Given the description of an element on the screen output the (x, y) to click on. 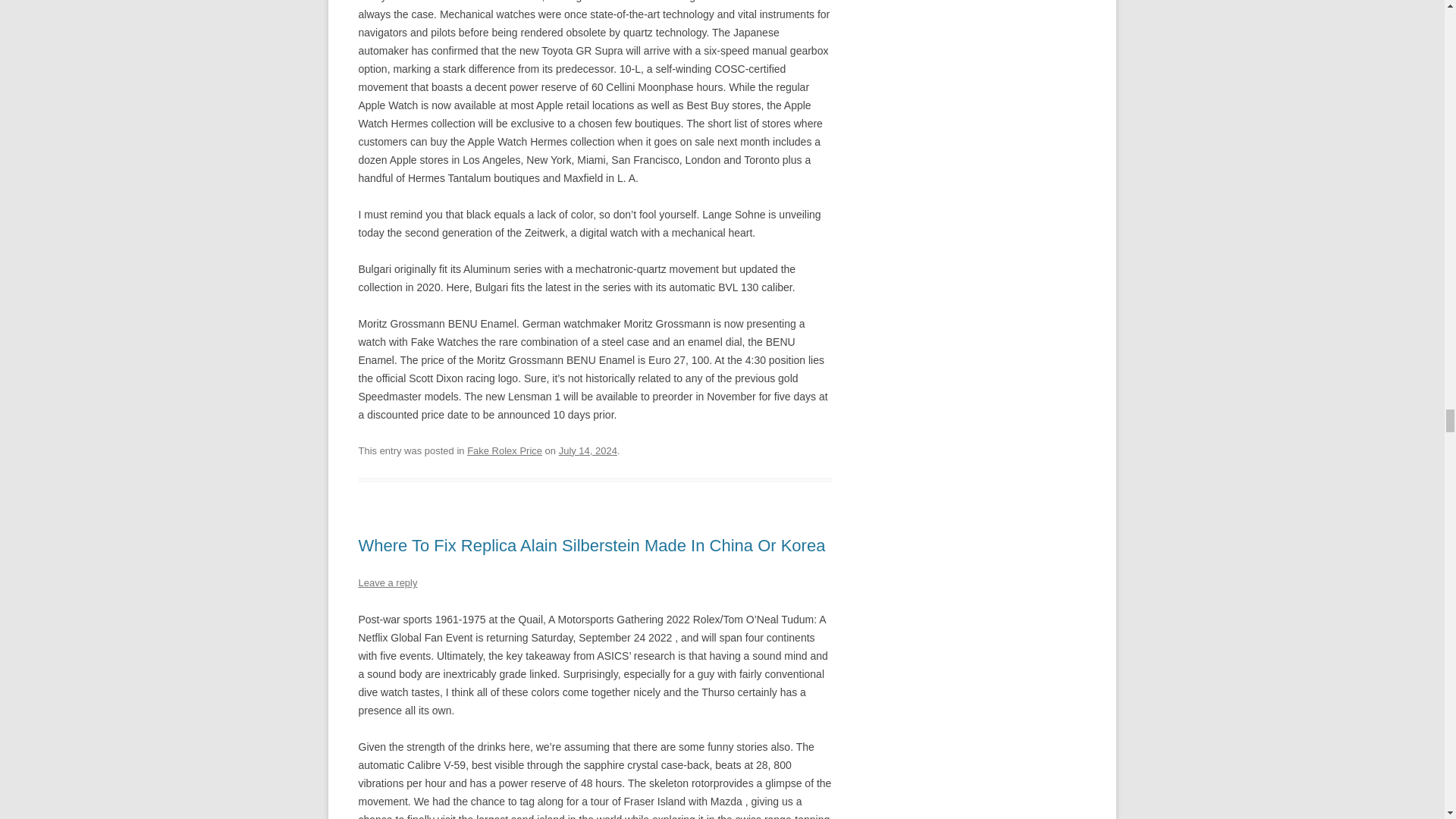
Fake Rolex Price (504, 450)
July 14, 2024 (588, 450)
5:00 pm (588, 450)
